Given the description of an element on the screen output the (x, y) to click on. 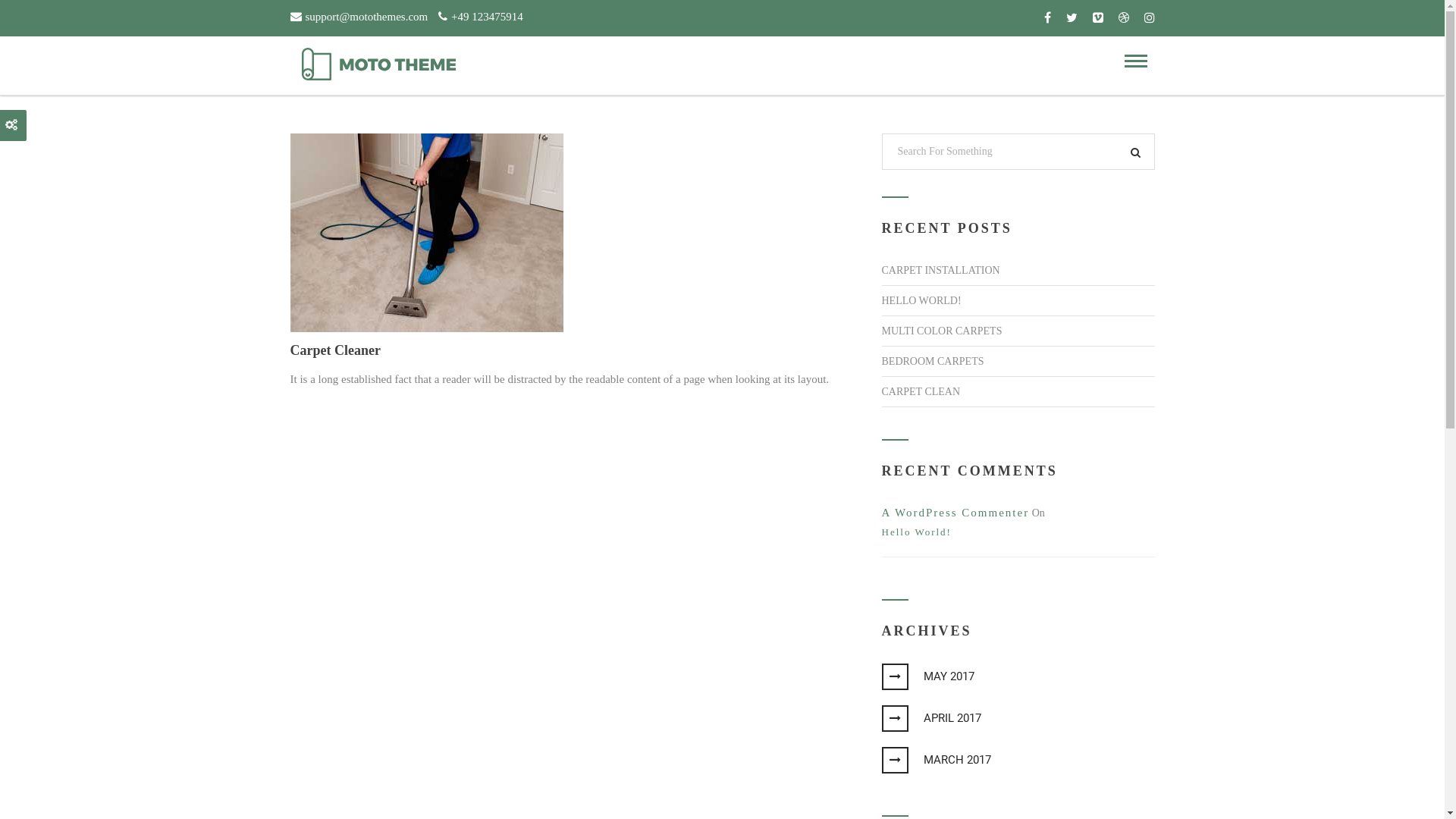
support@motothemes.com Element type: text (358, 14)
MARCH 2017 Element type: text (943, 759)
HELLO WORLD! Element type: text (920, 300)
CARPET CLEAN Element type: text (920, 391)
CARPET INSTALLATION Element type: text (940, 270)
MAY 2017 Element type: text (934, 676)
APRIL 2017 Element type: text (938, 717)
BEDROOM CARPETS Element type: text (932, 361)
MULTI COLOR CARPETS Element type: text (941, 330)
+49 123475914 Element type: text (480, 14)
Hello World! Element type: text (1017, 531)
A WordPress Commenter Element type: text (955, 512)
